Given the description of an element on the screen output the (x, y) to click on. 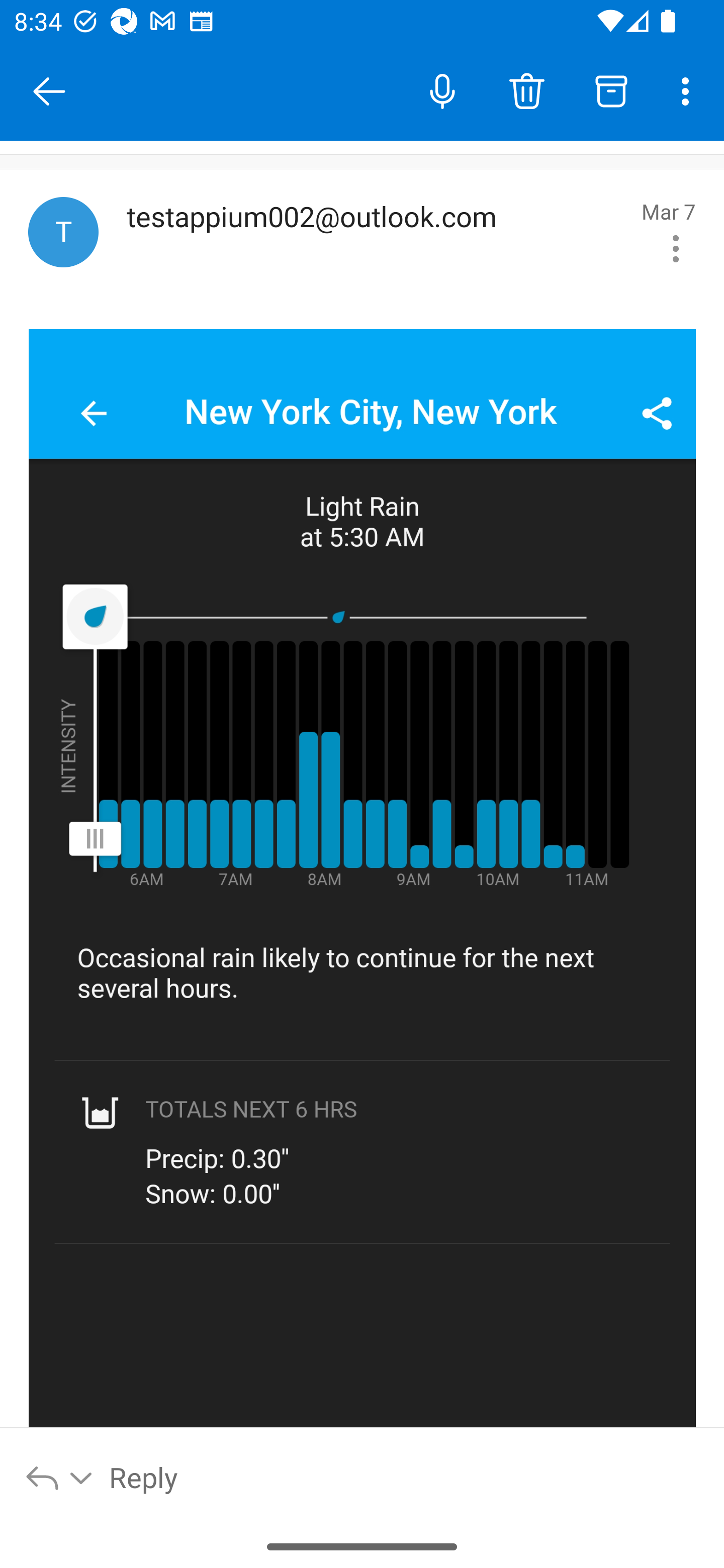
Close (49, 91)
Delete (526, 90)
Archive (611, 90)
More options (688, 90)
testappium002@outlook.com
 (376, 234)
Message actions (675, 248)
Message actions (675, 336)
Reply options (59, 1476)
